Given the description of an element on the screen output the (x, y) to click on. 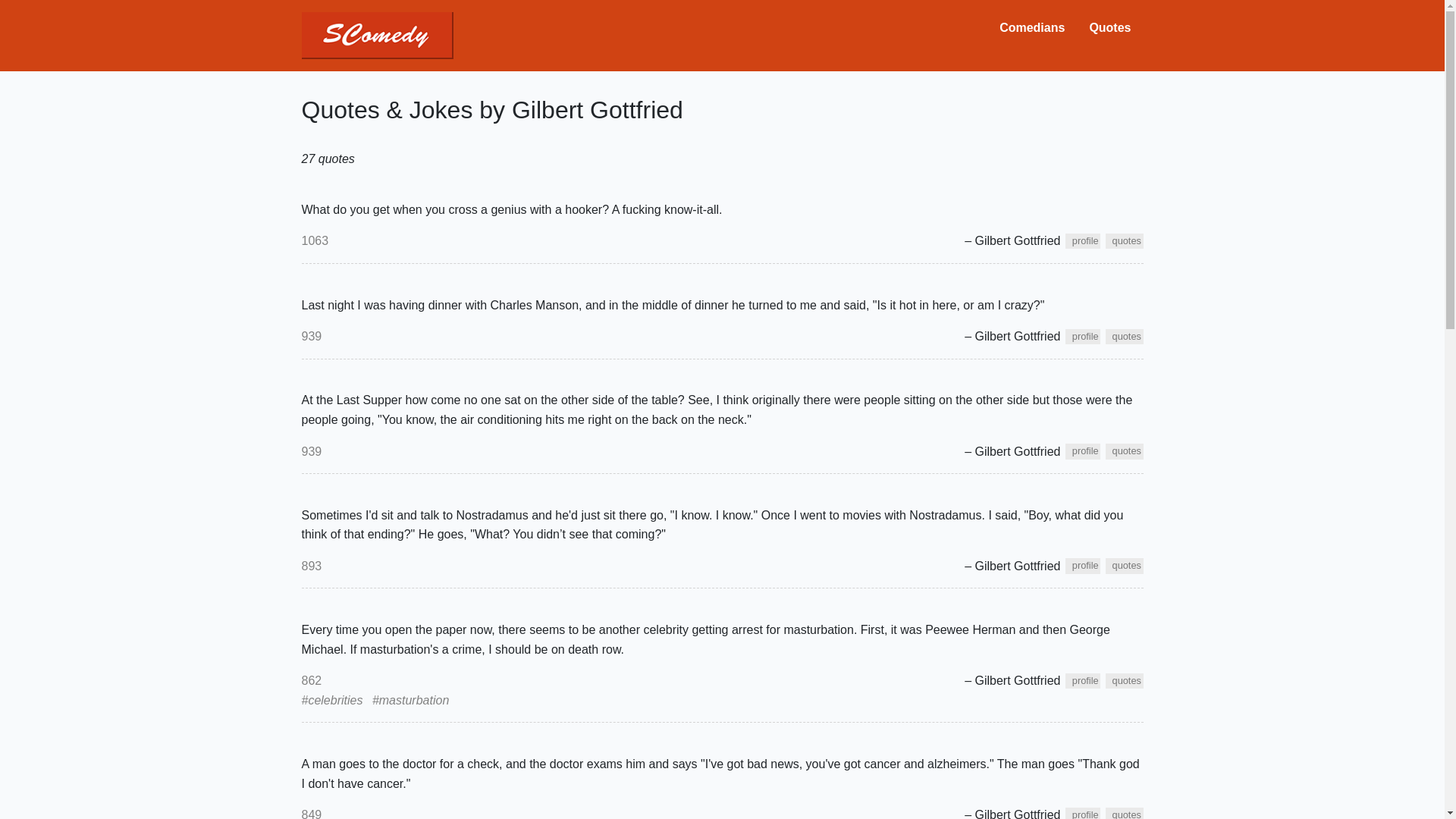
Gilbert Gottfried profile page (1082, 450)
profile (1082, 680)
Comedians (1032, 28)
All quotes and jokes by Gilbert Gottfried (1123, 336)
profile (1082, 565)
Gilbert Gottfried profile page (1082, 680)
profile (1082, 336)
views (311, 336)
All quotes and jokes by Gilbert Gottfried (1123, 565)
quotes (1123, 565)
